Given the description of an element on the screen output the (x, y) to click on. 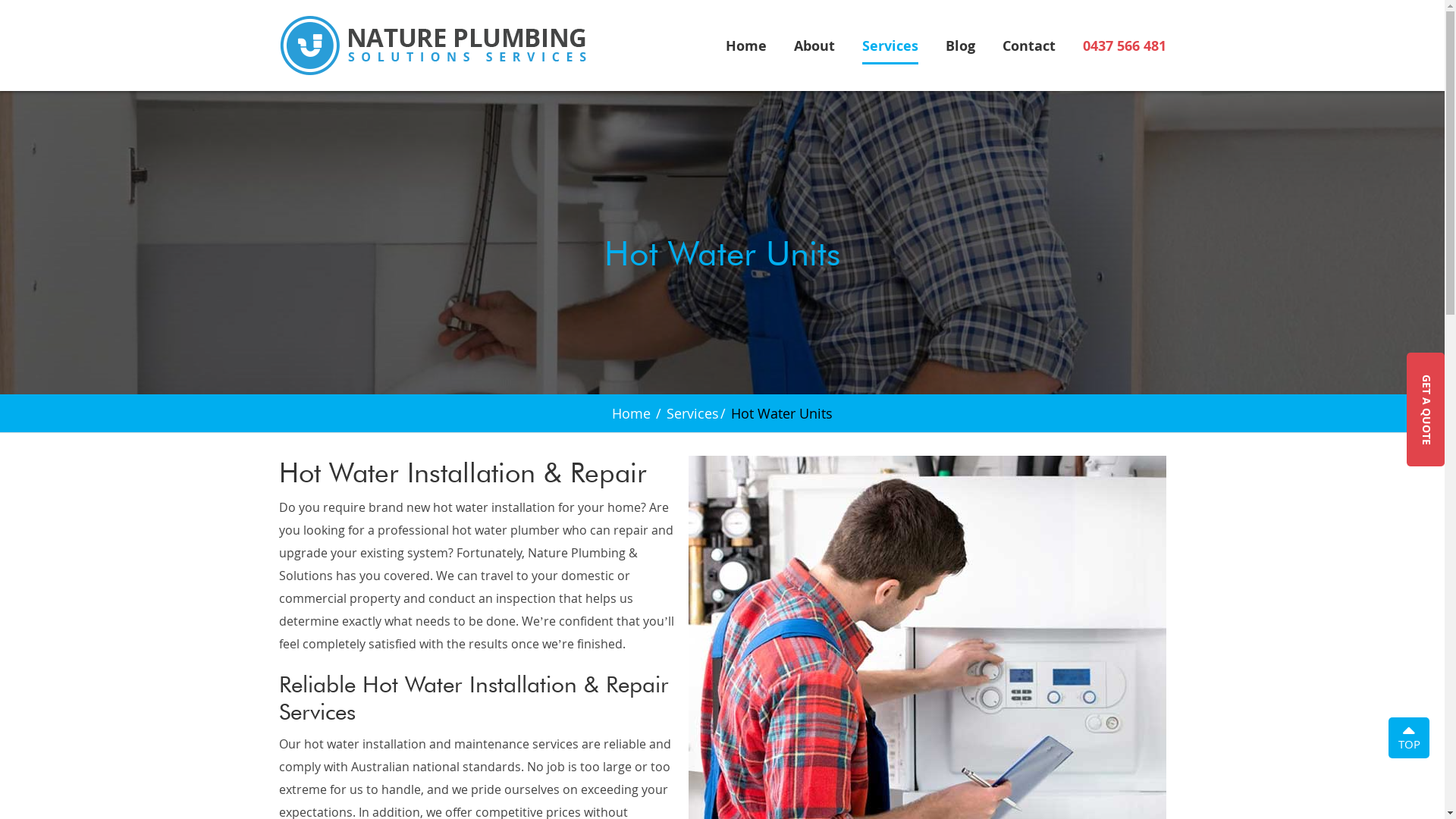
0437 566 481 Element type: text (1124, 45)
Blog Element type: text (959, 49)
Home Element type: text (630, 413)
About Element type: text (813, 49)
Services Element type: text (889, 49)
Plumbers Melbourne Northern Suburbs Element type: hover (432, 43)
Contact Element type: text (1028, 49)
Services Element type: text (692, 413)
Home Element type: text (744, 49)
